Given the description of an element on the screen output the (x, y) to click on. 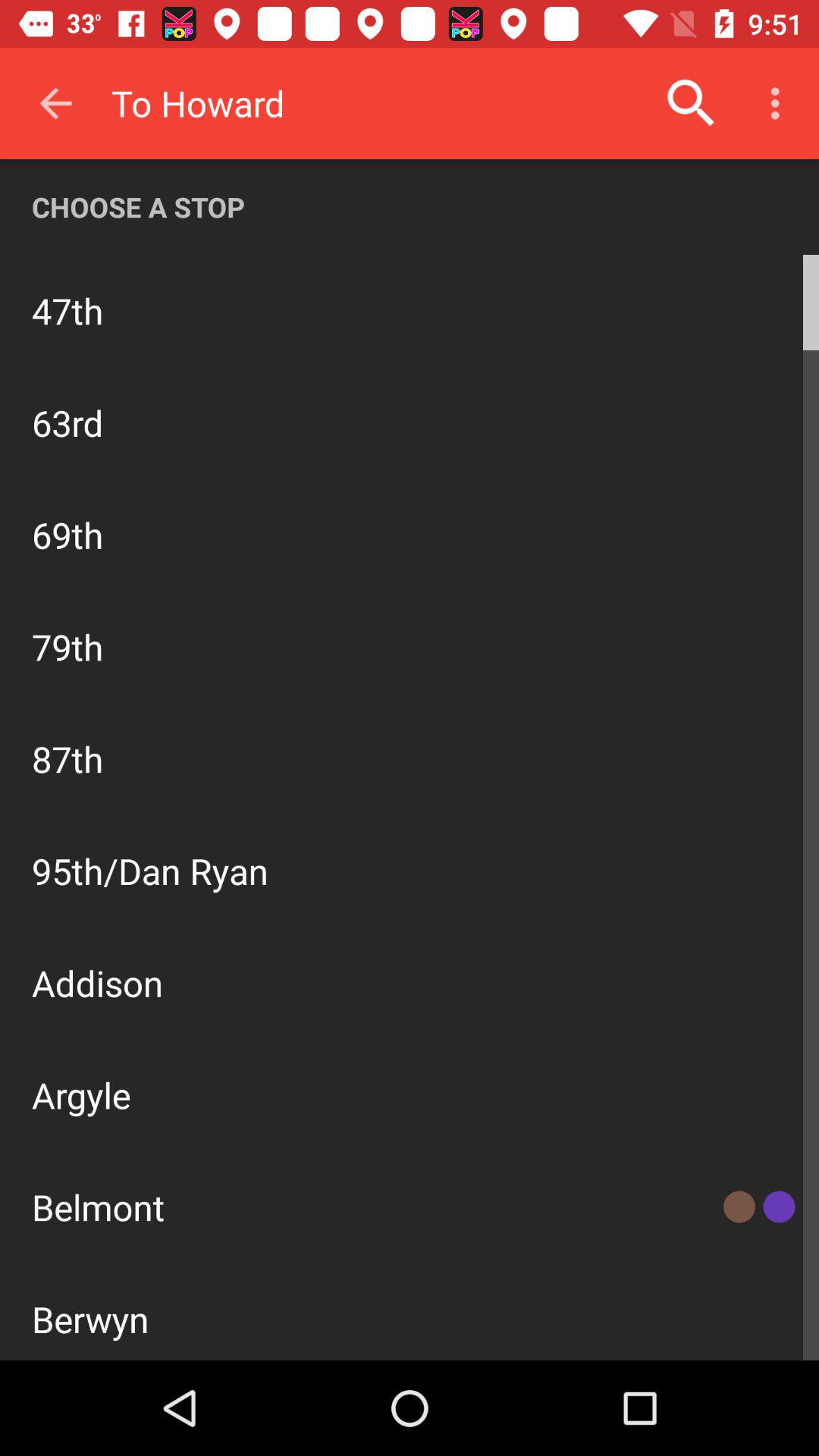
select option (409, 819)
